Given the description of an element on the screen output the (x, y) to click on. 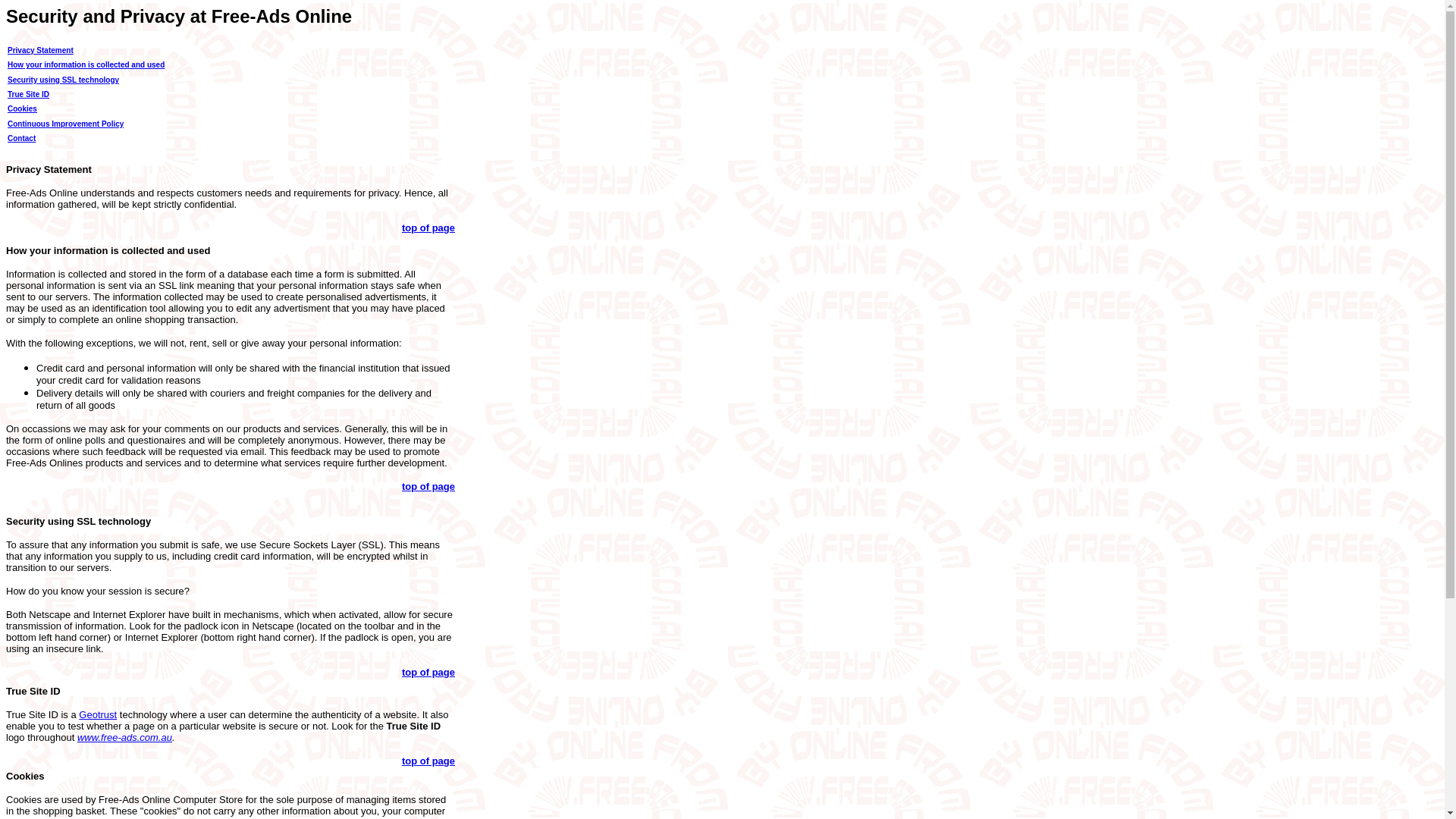
True Site ID (28, 94)
Geotrust (97, 714)
top of page (427, 672)
top of page (427, 227)
Privacy Statement (40, 49)
Contact (20, 138)
Continuous Improvement Policy (65, 123)
top of page (427, 760)
Security using SSL technology (63, 80)
How your information is collected and used (85, 64)
Cookies (22, 108)
www.free-ads.com.au (124, 737)
top of page (427, 486)
